Given the description of an element on the screen output the (x, y) to click on. 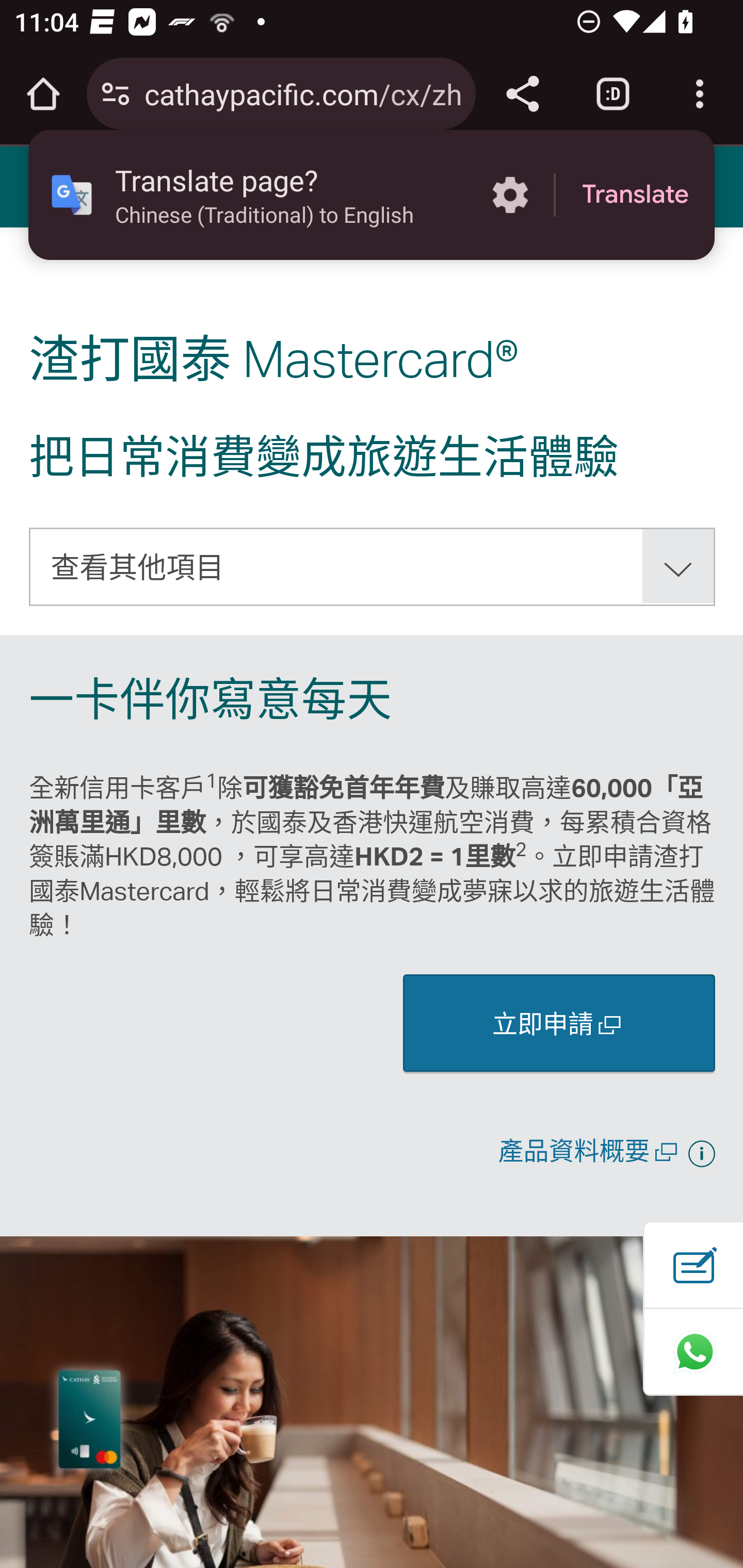
Open the home page (43, 93)
Connection is secure (115, 93)
Share (522, 93)
Switch or close tabs (612, 93)
Customize and control Google Chrome (699, 93)
Translate (634, 195)
功能表 (47, 186)
More options in the Translate page? (509, 195)
查看其他項目 (372, 566)
立即申請 開啟新視窗 立即申請 開啟新視窗 (559, 1022)
產品資料概要 開啟新視窗 產品資料概要 開啟新視窗 (590, 1150)
